Given the description of an element on the screen output the (x, y) to click on. 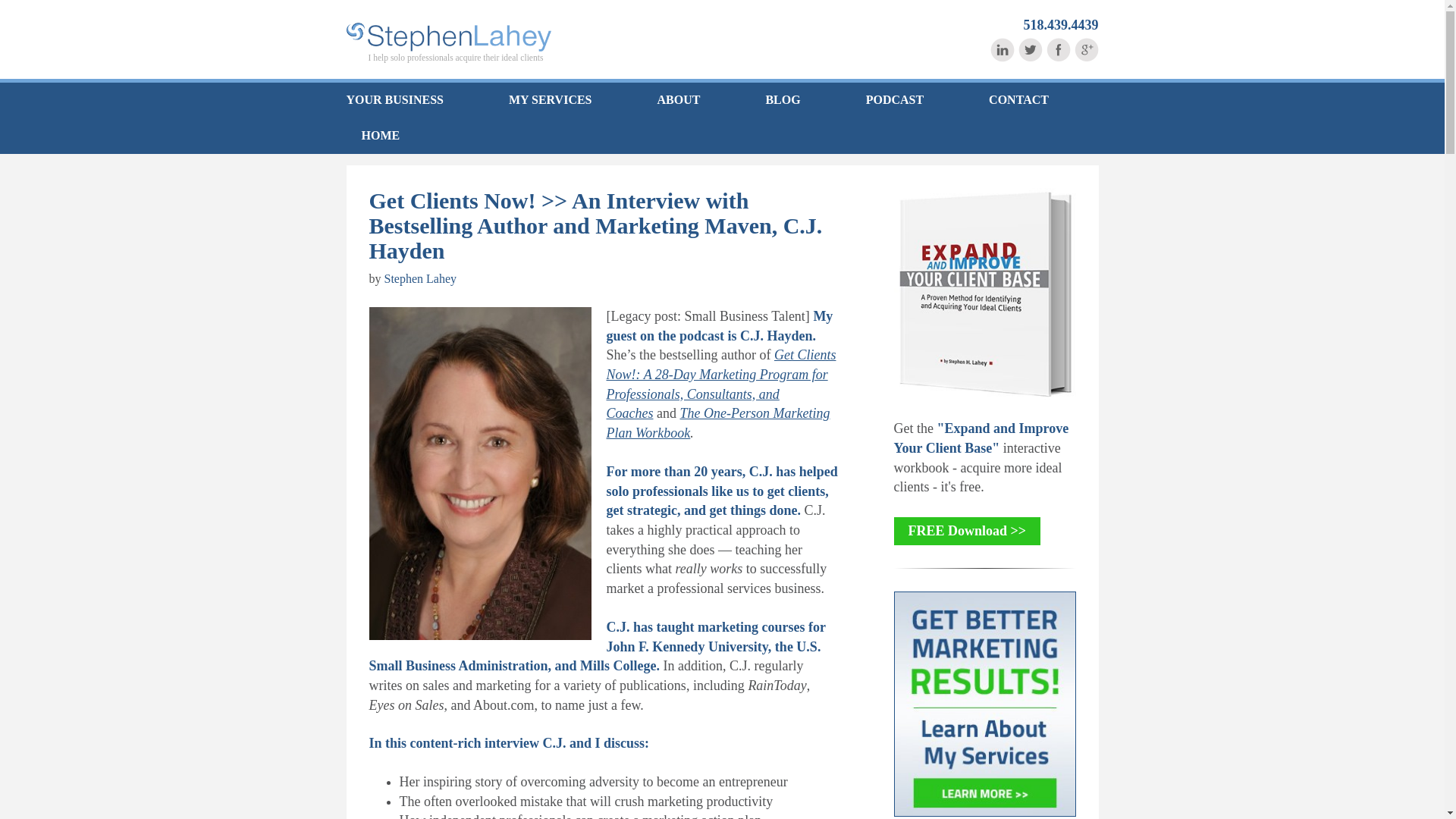
YOUR BUSINESS (410, 99)
The One-Person Marketing Plan Workbook (718, 422)
Smart Solo Business (448, 36)
PODCAST (894, 99)
Stephen Lahey (420, 278)
Get Clients Now - book page (721, 383)
MY SERVICES (550, 99)
HOME (372, 135)
CONTACT (1019, 99)
ABOUT (679, 99)
The One Person Marketing Plan Workbook (718, 422)
BLOG (782, 99)
